Given the description of an element on the screen output the (x, y) to click on. 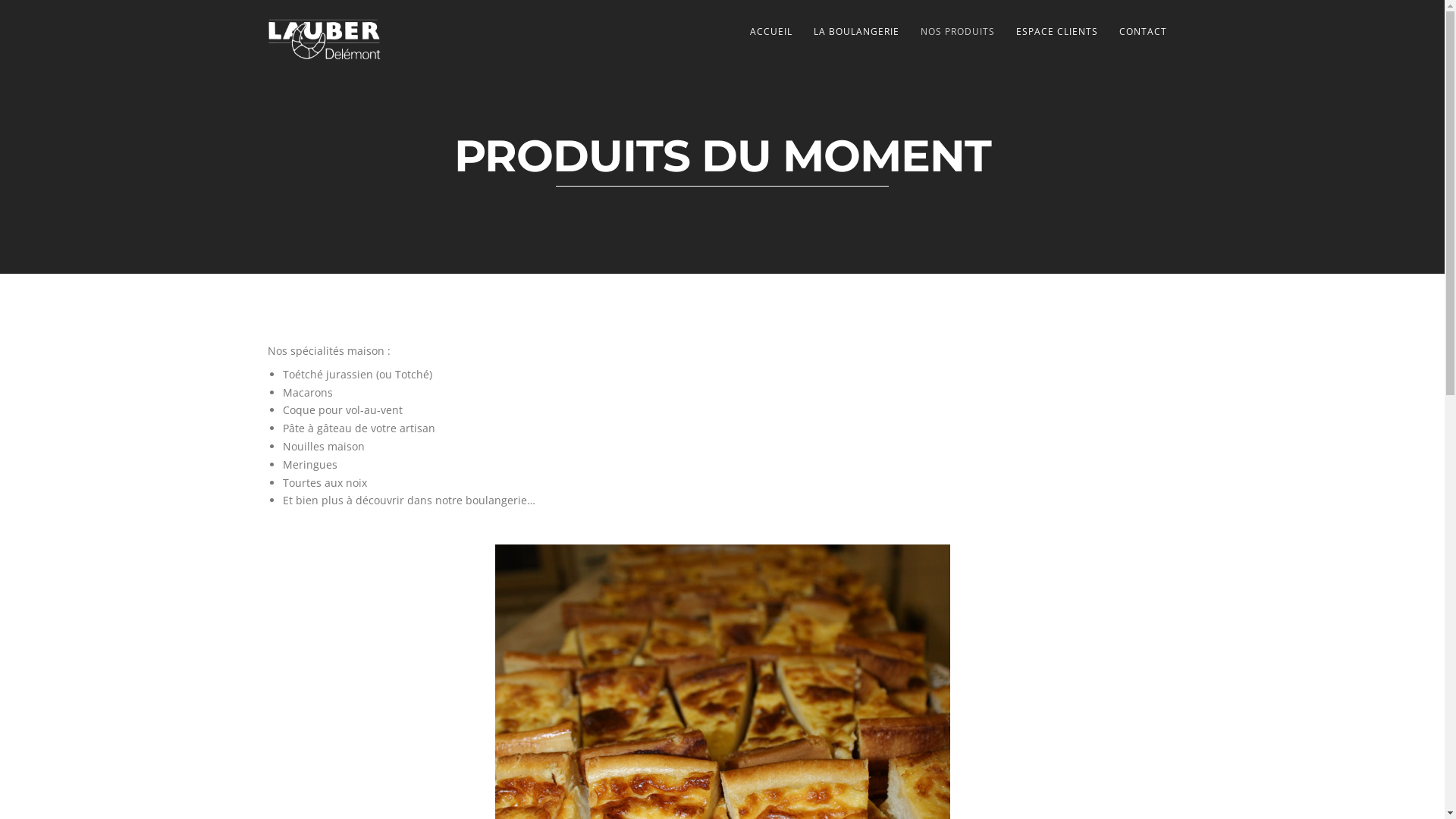
ESPACE CLIENTS Element type: text (1056, 31)
NOS PRODUITS Element type: text (957, 31)
ACCUEIL Element type: text (770, 31)
CONTACT Element type: text (1142, 31)
LA BOULANGERIE Element type: text (855, 31)
